Given the description of an element on the screen output the (x, y) to click on. 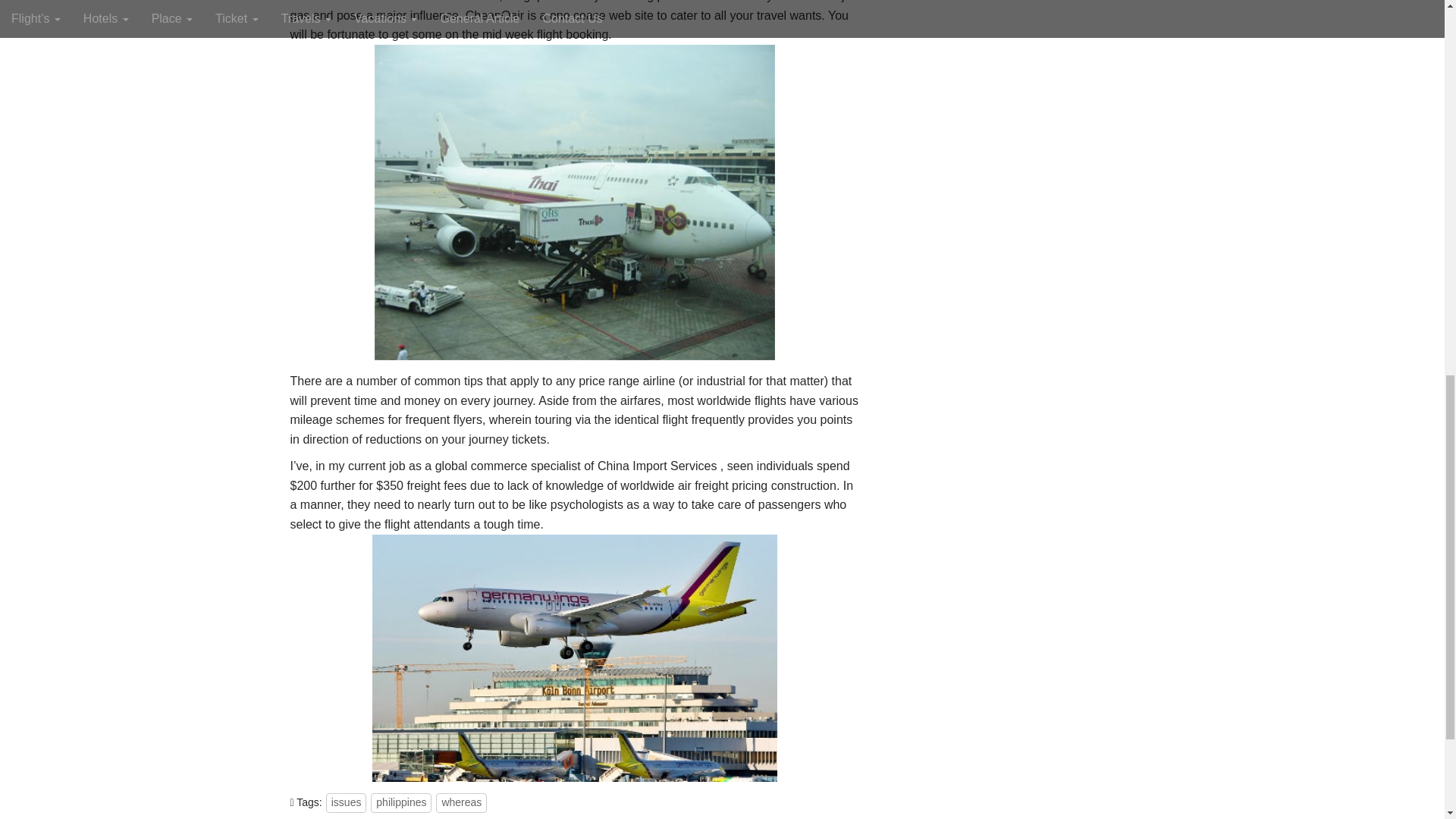
philippines (400, 803)
issues (346, 803)
whereas (460, 803)
